Given the description of an element on the screen output the (x, y) to click on. 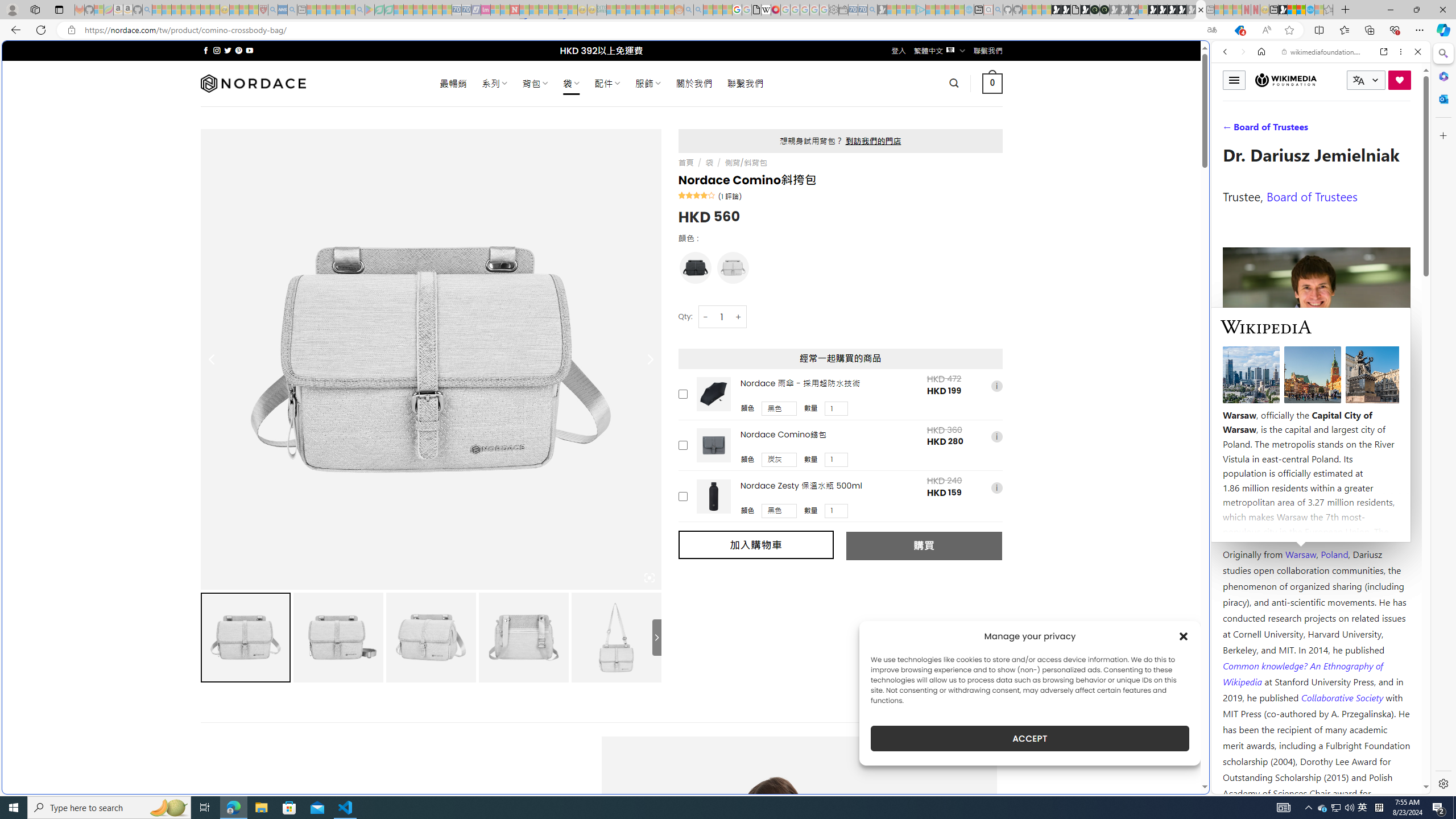
MediaWiki (774, 9)
Class: i icon icon-translate language-switcher__icon (1358, 80)
ACCEPT (1029, 738)
